Given the description of an element on the screen output the (x, y) to click on. 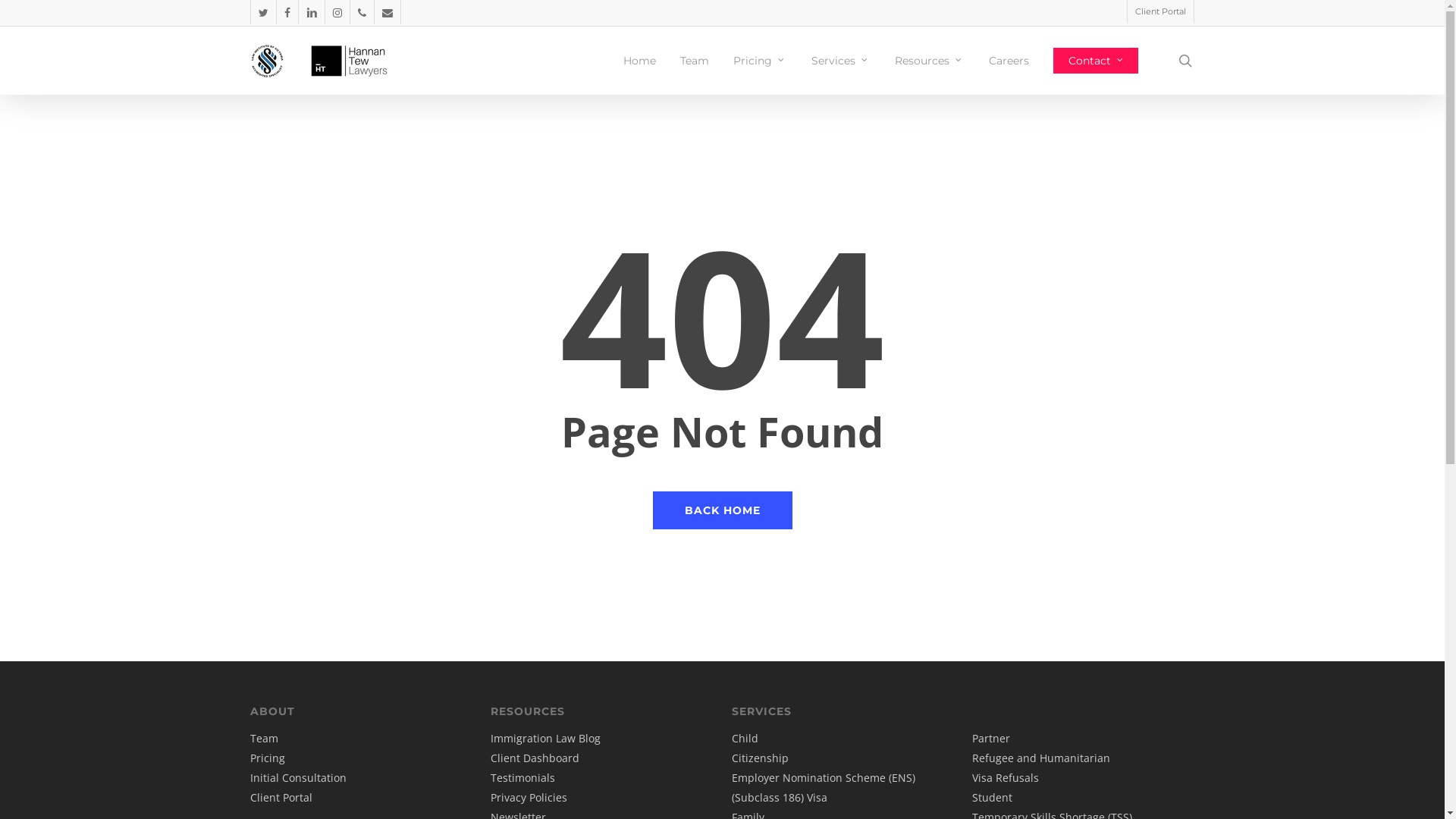
Instagram Element type: text (336, 12)
Facebook Element type: text (287, 12)
Services Element type: text (840, 60)
Student Element type: text (992, 797)
Home Element type: text (639, 60)
Child Element type: text (744, 738)
Team Element type: text (264, 738)
Twitter Element type: text (263, 12)
Partner Element type: text (991, 738)
Careers Element type: text (1008, 60)
Linkedin Element type: text (311, 12)
Resources Element type: text (929, 60)
Refugee and Humanitarian Element type: text (1041, 757)
Immigration Law Blog Element type: text (545, 738)
Citizenship Element type: text (759, 757)
Phone Element type: text (361, 12)
Testimonials Element type: text (522, 777)
Client Dashboard Element type: text (534, 757)
Visa Refusals Element type: text (1005, 777)
BACK HOME Element type: text (721, 510)
Pricing Element type: text (267, 757)
search Element type: text (1185, 60)
Email Element type: text (386, 12)
Team Element type: text (694, 60)
Initial Consultation Element type: text (298, 777)
Privacy Policies Element type: text (528, 797)
Employer Nomination Scheme (ENS) (Subclass 186) Visa Element type: text (823, 787)
Client Portal Element type: text (281, 797)
Contact Element type: text (1095, 60)
Client Portal Element type: text (1159, 11)
Pricing Element type: text (760, 60)
